Given the description of an element on the screen output the (x, y) to click on. 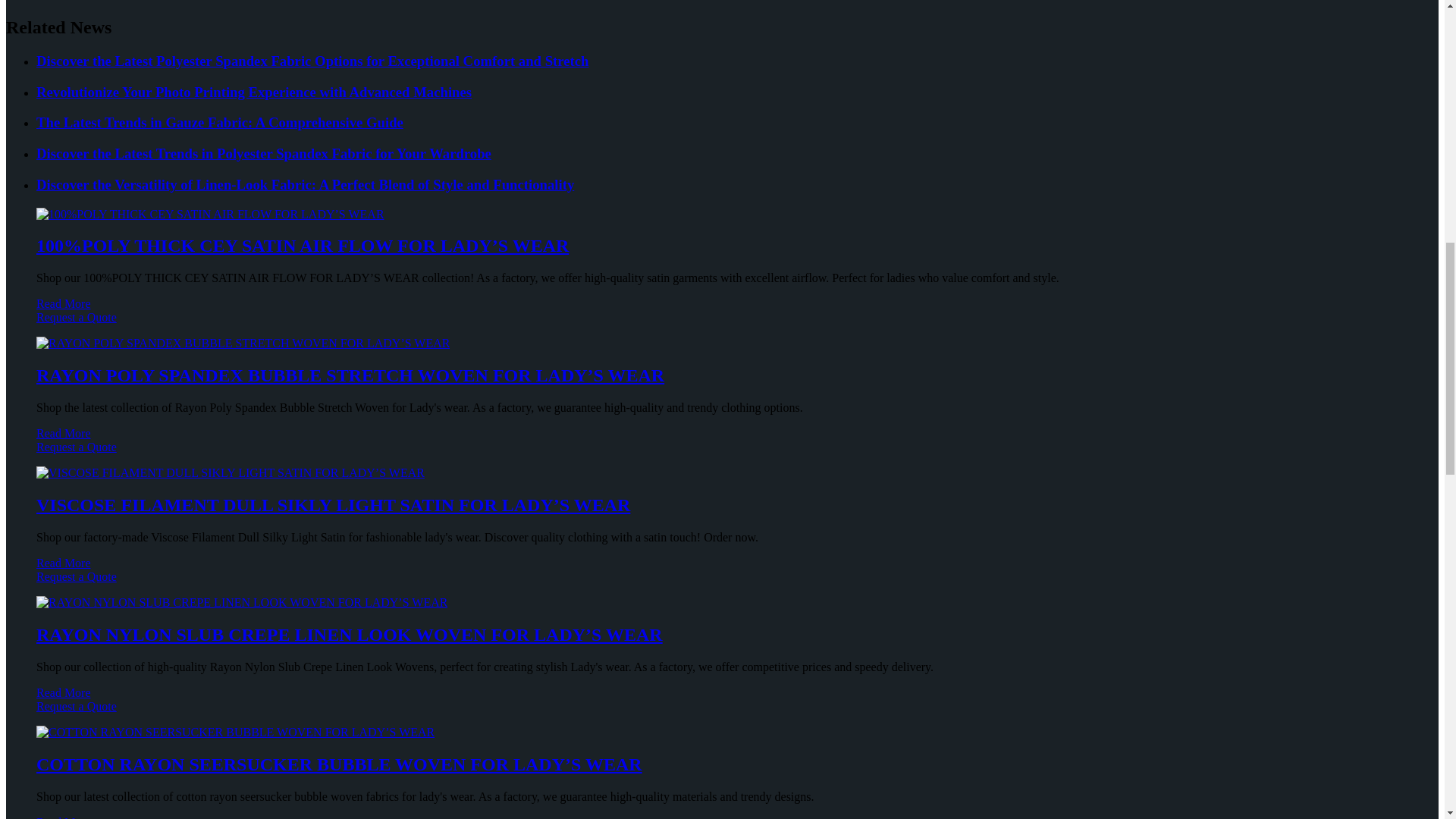
Read More (63, 432)
Read More (63, 303)
Request a Quote (721, 324)
Request a Quote (721, 453)
